Given the description of an element on the screen output the (x, y) to click on. 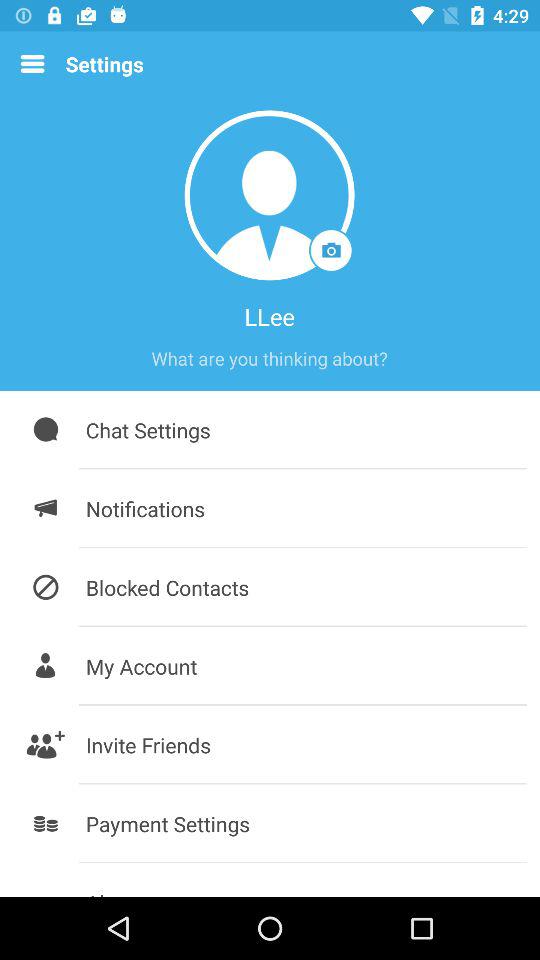
select the llee (269, 316)
